Given the description of an element on the screen output the (x, y) to click on. 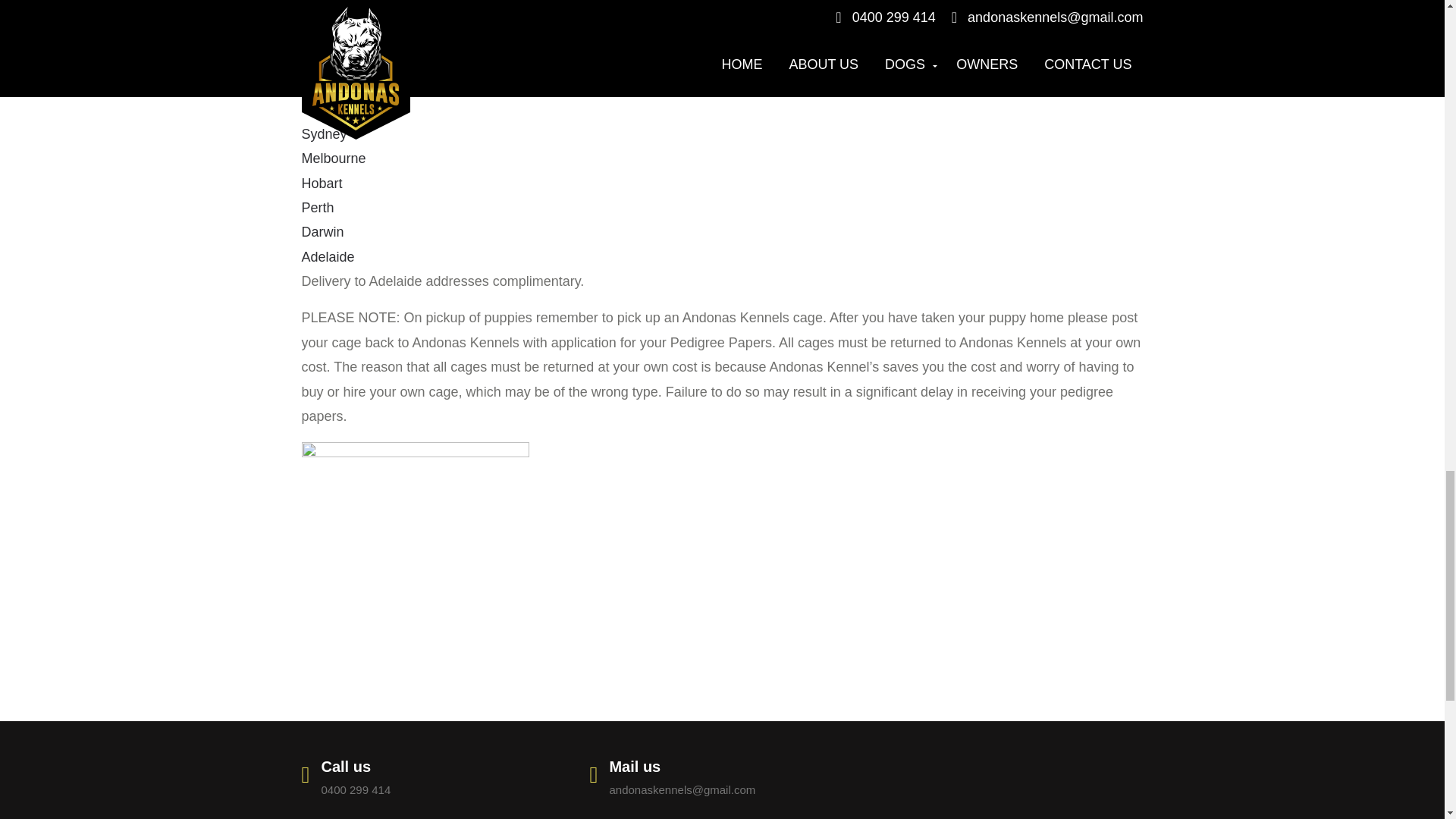
Perth (317, 207)
Sydney (324, 133)
Brisbane (328, 84)
Melbourne (333, 158)
Hobart (321, 183)
Cairns (320, 60)
Coolangatta (338, 109)
Darwin (322, 231)
Adelaide (328, 256)
